Given the description of an element on the screen output the (x, y) to click on. 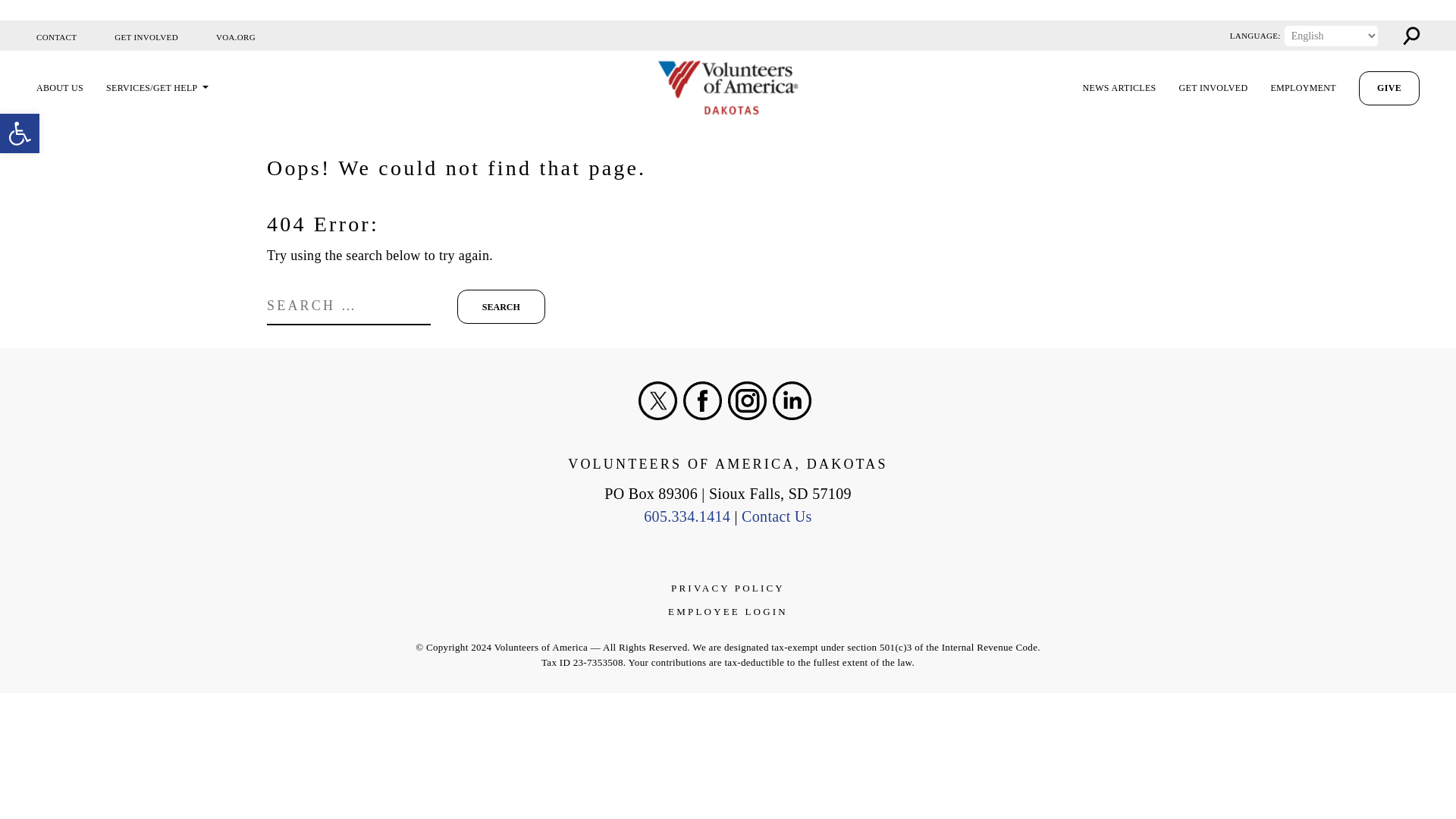
PRIVACY POLICY (727, 587)
VOA.ORG (235, 36)
LinkedIn (791, 400)
X (658, 400)
605.334.1414 (686, 515)
Search (500, 306)
Search (500, 306)
